Given the description of an element on the screen output the (x, y) to click on. 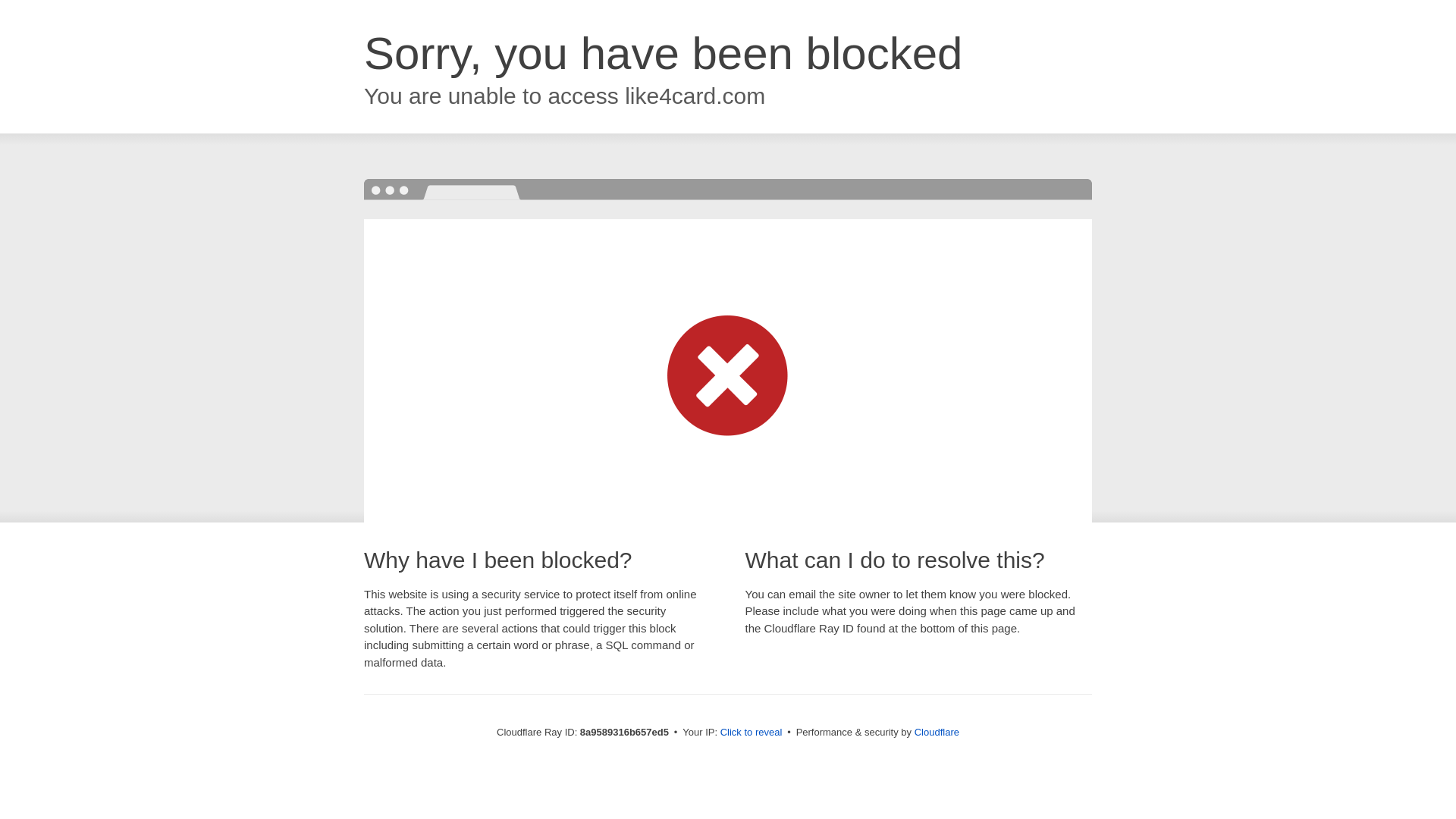
Cloudflare (936, 731)
Click to reveal (751, 732)
